Given the description of an element on the screen output the (x, y) to click on. 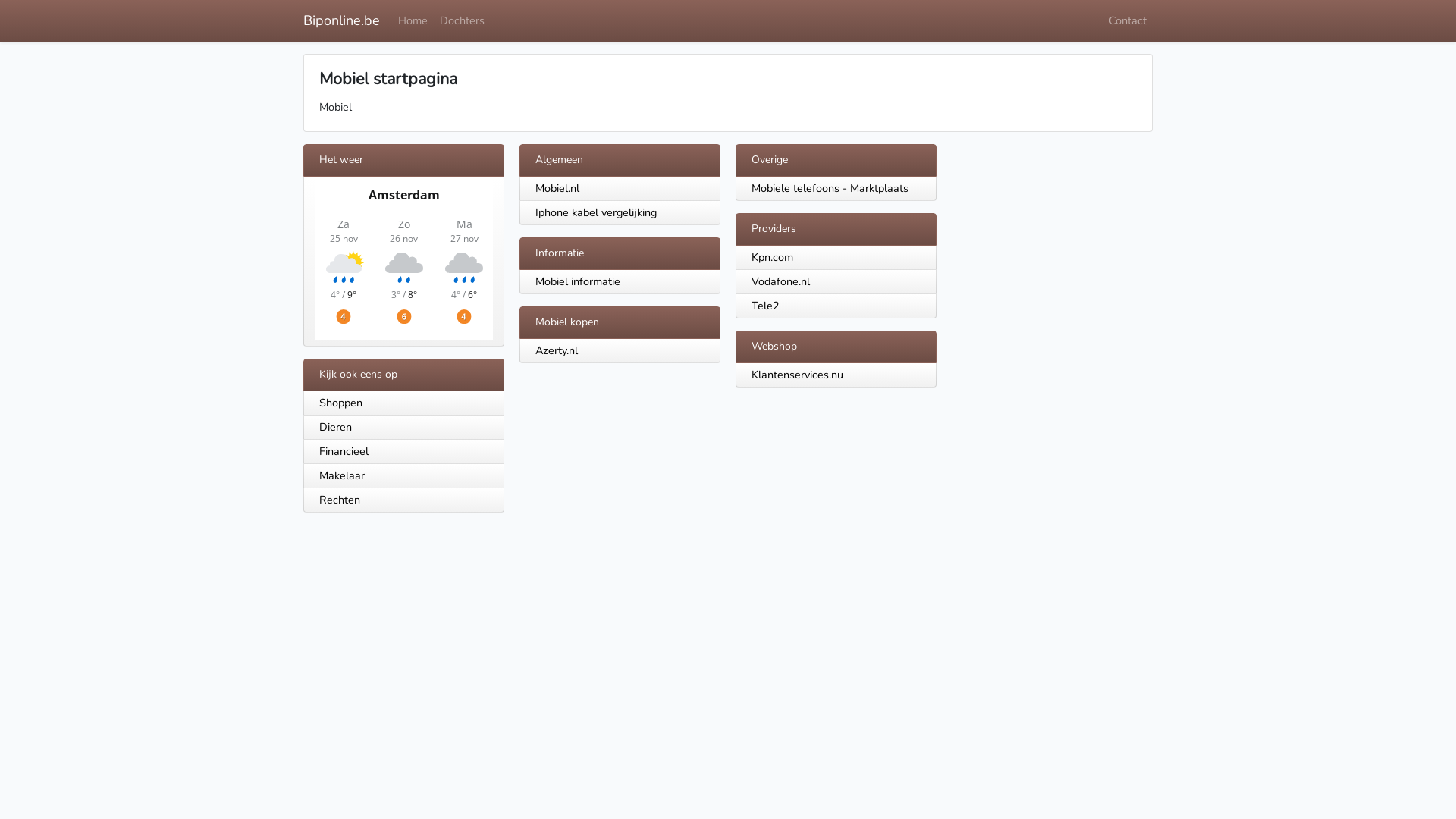
Kpn.com Element type: text (772, 256)
Biponline.be Element type: text (341, 20)
Vodafone.nl Element type: text (780, 280)
Dieren Element type: text (403, 427)
Dochters Element type: text (461, 20)
Mobiele telefoons - Marktplaats Element type: text (829, 187)
Mobiel.nl Element type: text (557, 187)
Azerty.nl Element type: text (556, 349)
Home Element type: text (412, 20)
Iphone kabel vergelijking Element type: text (595, 211)
Makelaar Element type: text (403, 476)
Mobiel informatie Element type: text (577, 280)
Klantenservices.nu Element type: text (797, 374)
Tele2 Element type: text (765, 305)
Shoppen Element type: text (403, 403)
Contact Element type: text (1127, 20)
Financieel Element type: text (403, 451)
Rechten Element type: text (403, 500)
